Given the description of an element on the screen output the (x, y) to click on. 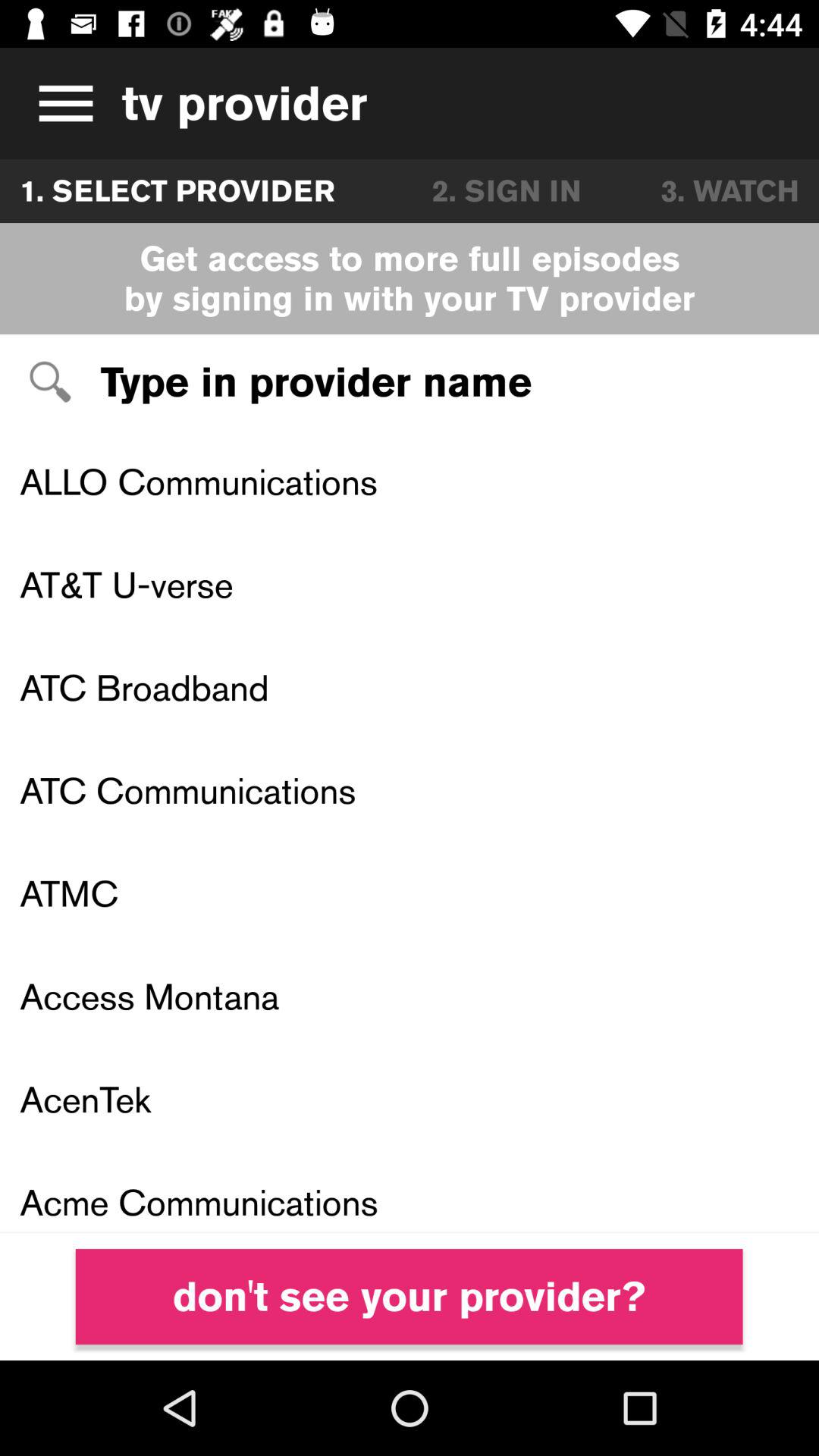
select the acme communications item (409, 1191)
